Given the description of an element on the screen output the (x, y) to click on. 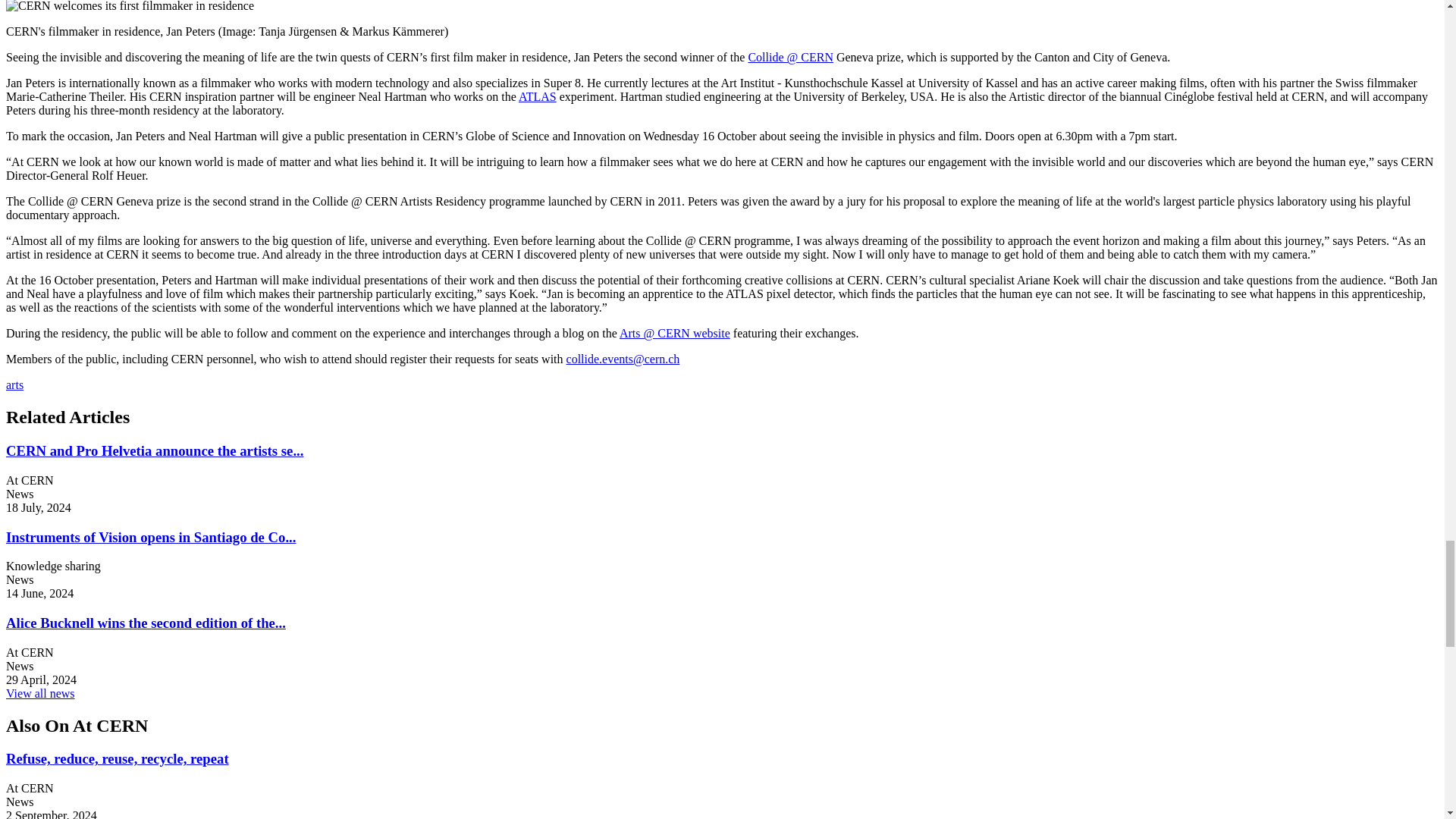
Refuse, reduce, reuse, recycle, repeat (116, 758)
